Given the description of an element on the screen output the (x, y) to click on. 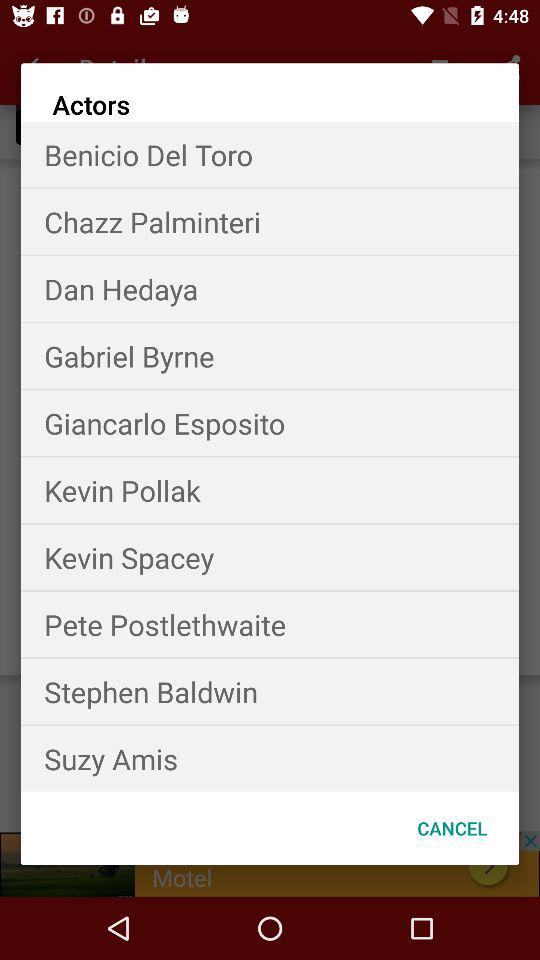
scroll until the    giancarlo esposito icon (269, 422)
